Given the description of an element on the screen output the (x, y) to click on. 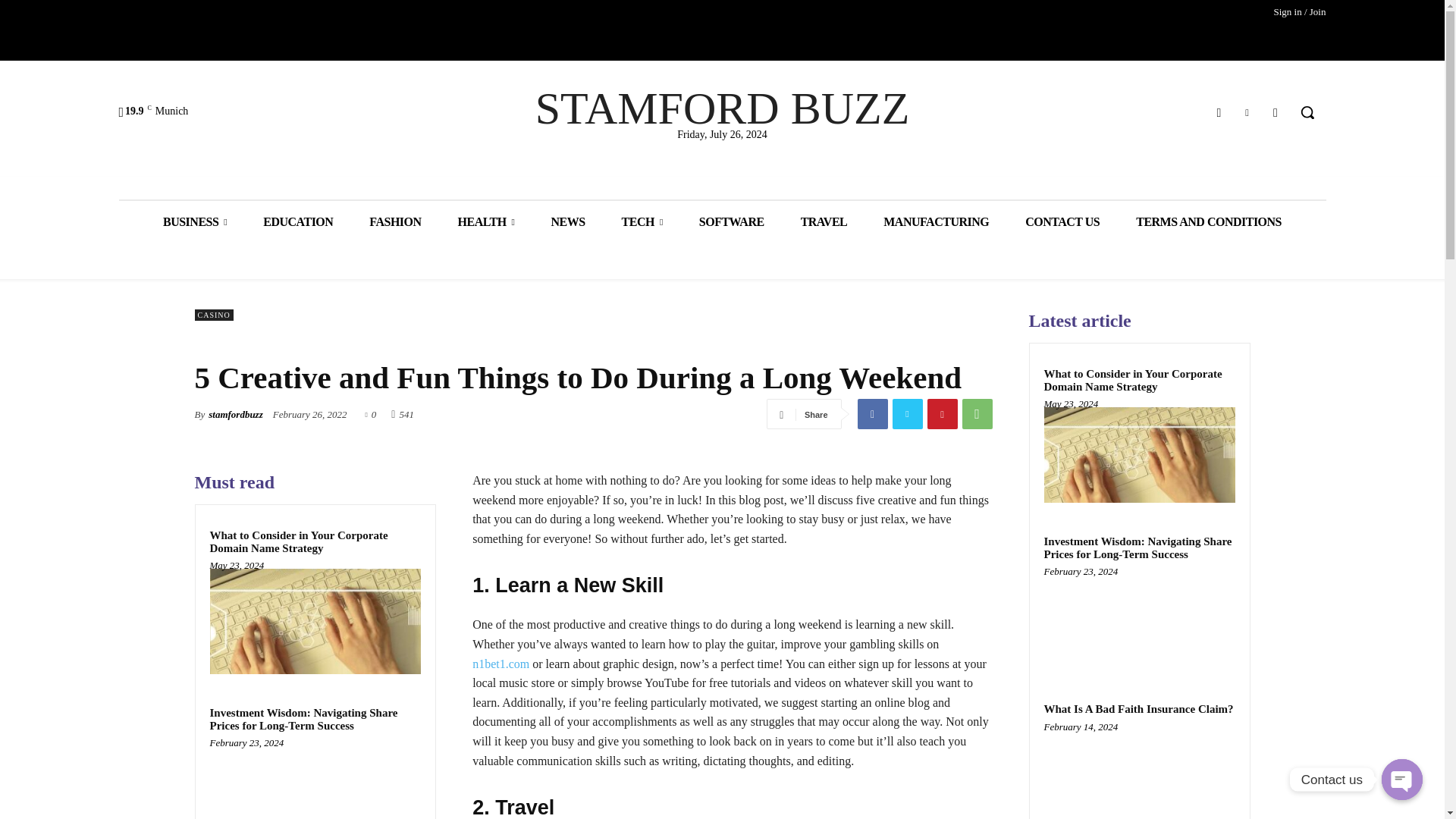
STAMFORD BUZZ (721, 108)
WhatsApp (975, 413)
BUSINESS (194, 221)
Facebook (1218, 112)
Twitter (1246, 112)
Youtube (1275, 112)
Pinterest (941, 413)
Twitter (906, 413)
Facebook (871, 413)
